Given the description of an element on the screen output the (x, y) to click on. 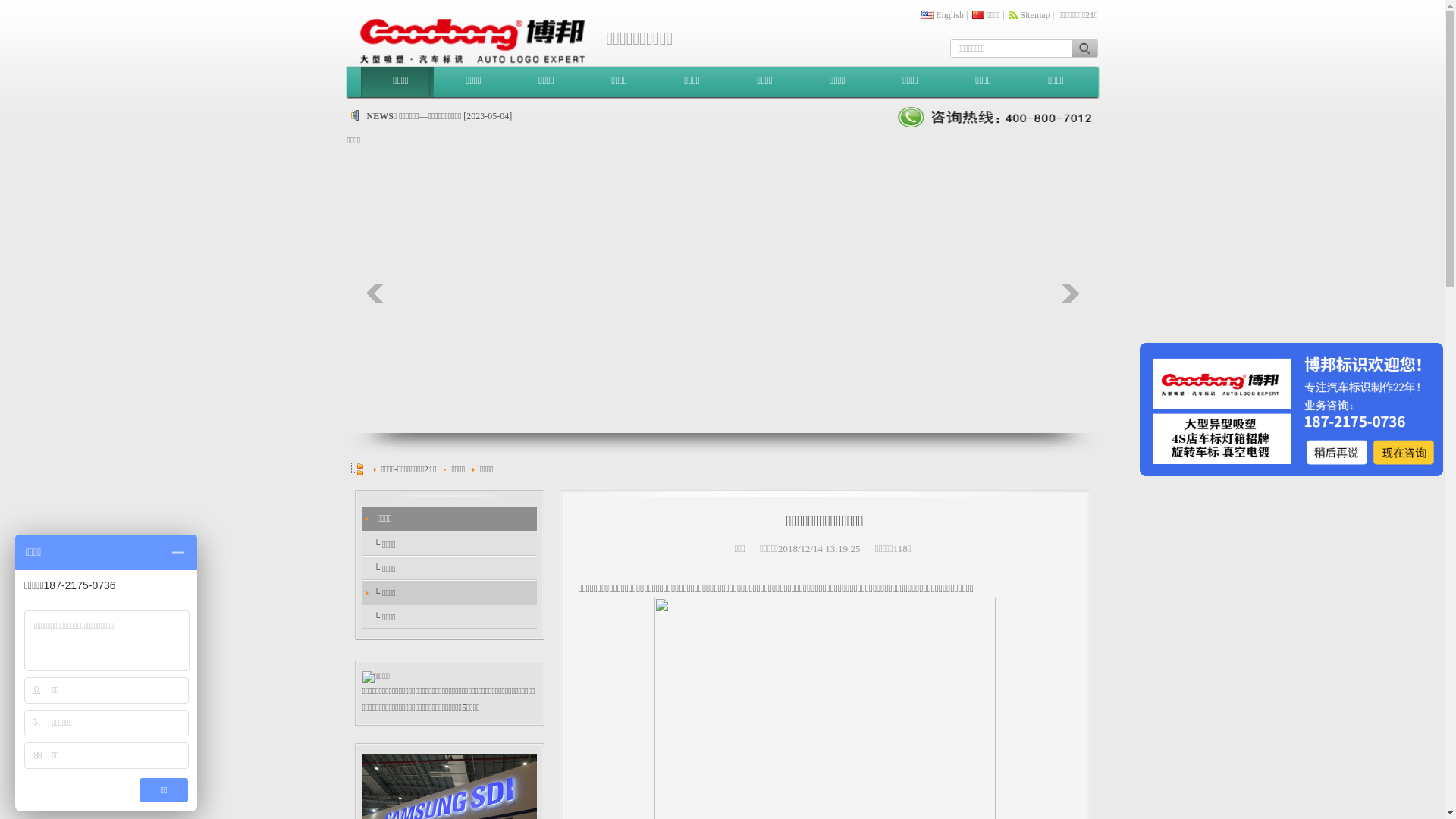
next Element type: text (1069, 293)
prev Element type: text (373, 293)
English Element type: text (949, 14)
Sitemap Element type: text (1034, 14)
